Given the description of an element on the screen output the (x, y) to click on. 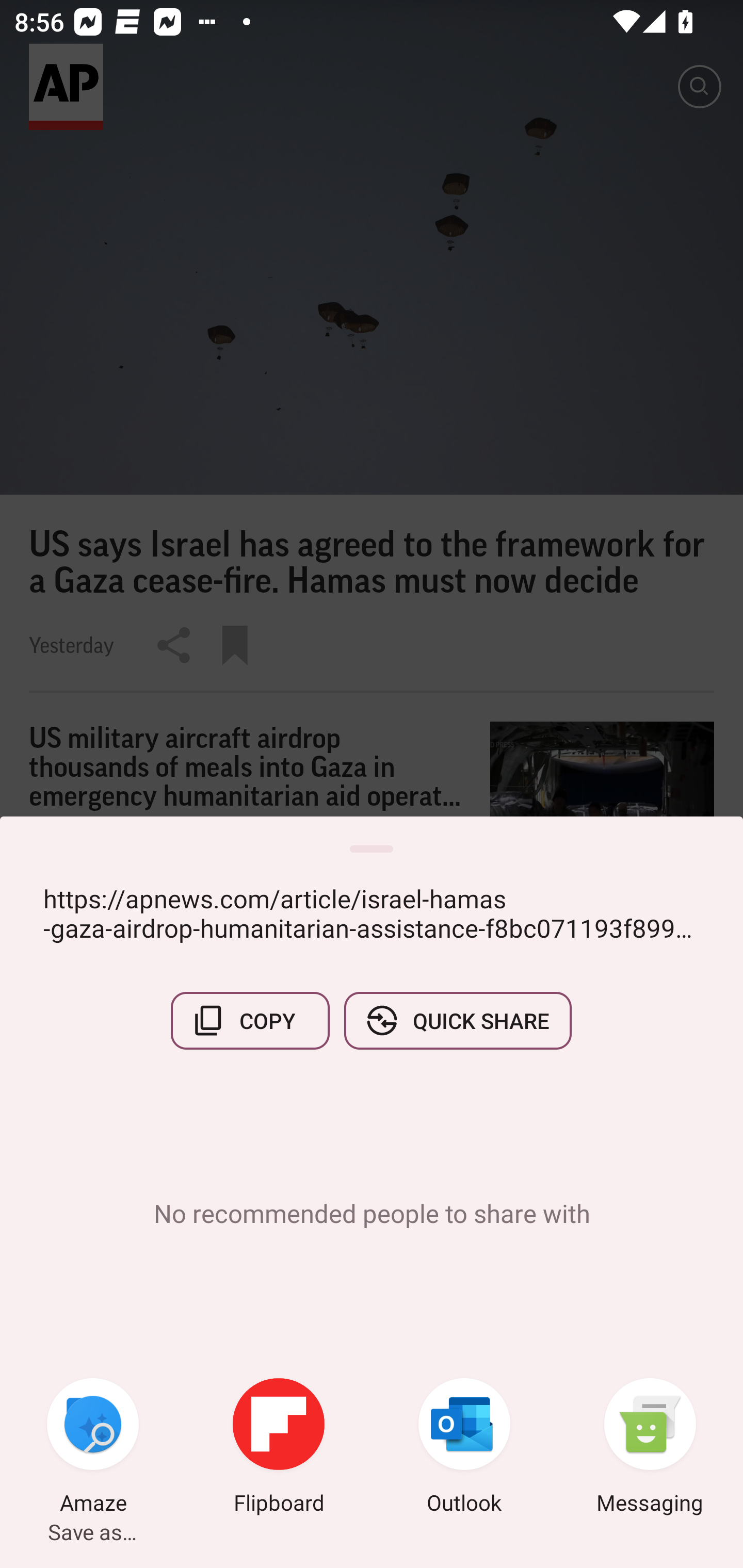
COPY (249, 1020)
QUICK SHARE (457, 1020)
Amaze Save as… (92, 1448)
Flipboard (278, 1448)
Outlook (464, 1448)
Messaging (650, 1448)
